Given the description of an element on the screen output the (x, y) to click on. 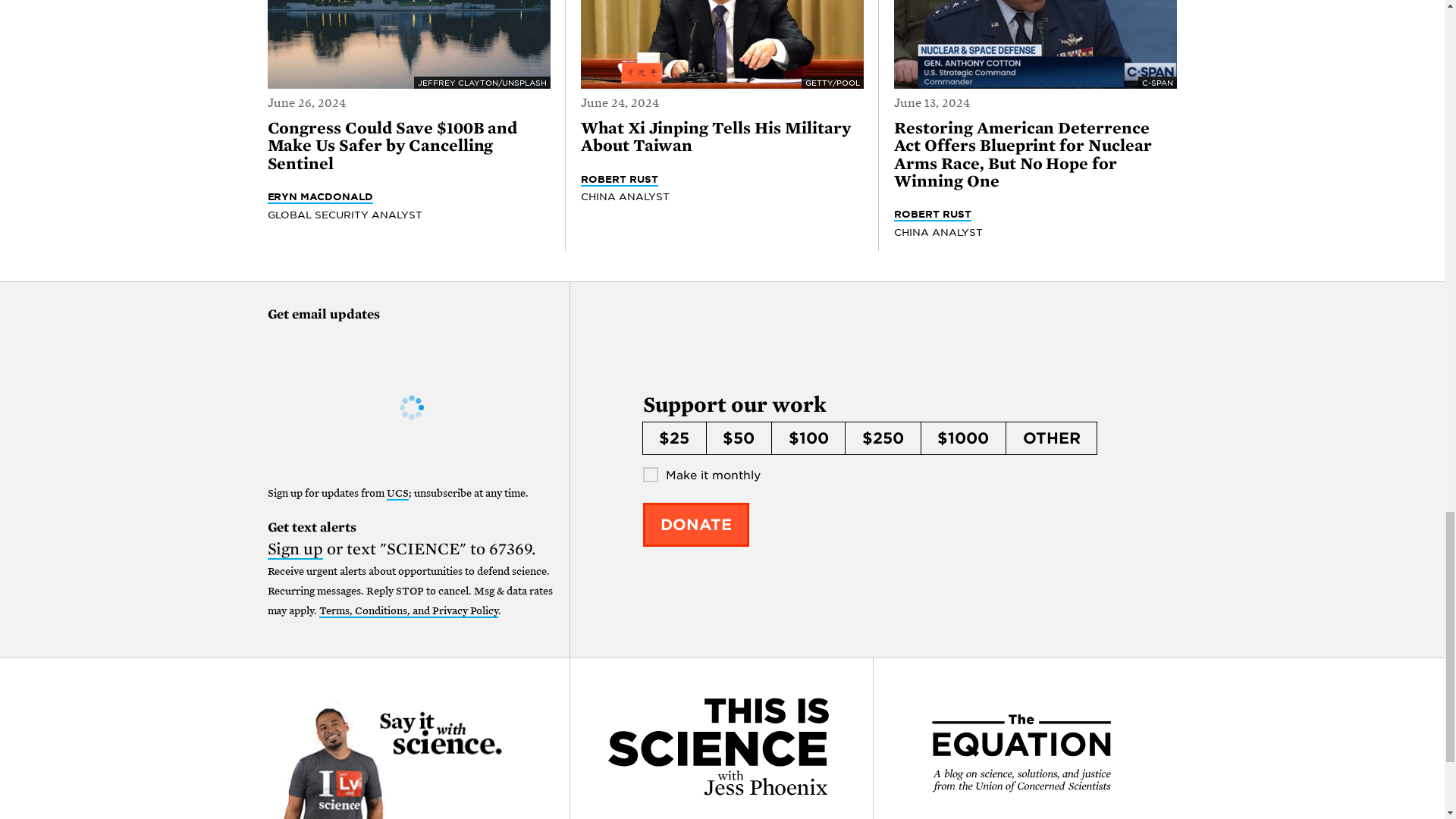
ROBERT RUST (619, 179)
Terms, Conditions, and Privacy Policy (407, 611)
ROBERT RUST (932, 214)
What Xi Jinping Tells His Military About Taiwan (715, 137)
UCS (398, 493)
Donate Online (696, 524)
ERYN MACDONALD (319, 196)
C-SPAN (1034, 44)
Sign up (294, 549)
